Given the description of an element on the screen output the (x, y) to click on. 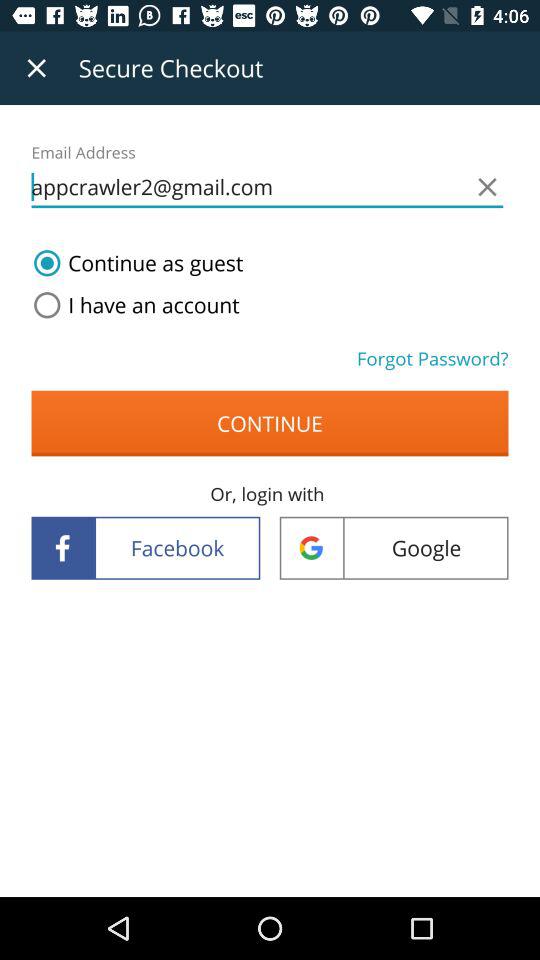
choose item above the continue as guest (267, 187)
